Given the description of an element on the screen output the (x, y) to click on. 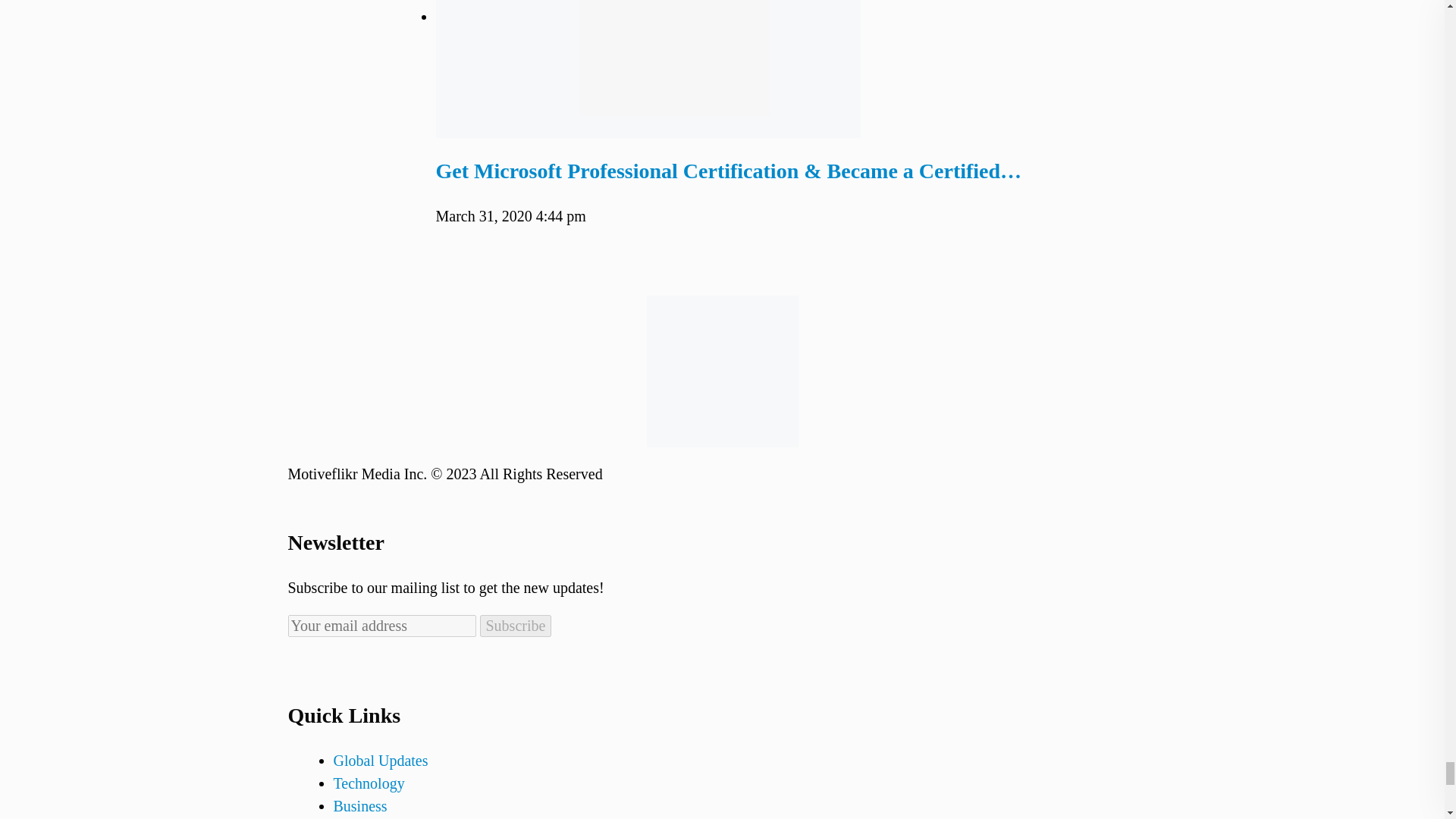
Subscribe (515, 626)
